Given the description of an element on the screen output the (x, y) to click on. 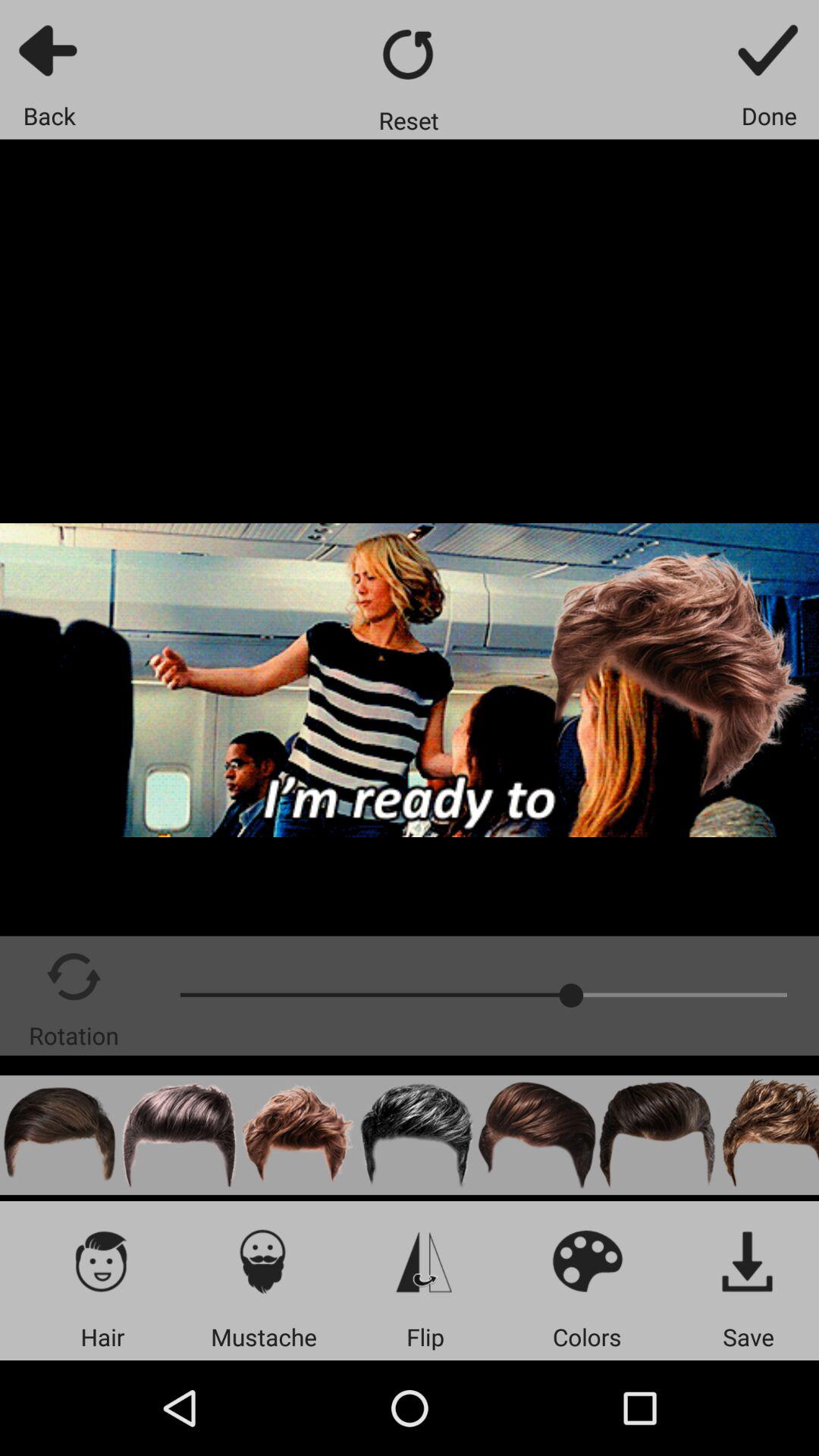
select flip (425, 1260)
